Given the description of an element on the screen output the (x, y) to click on. 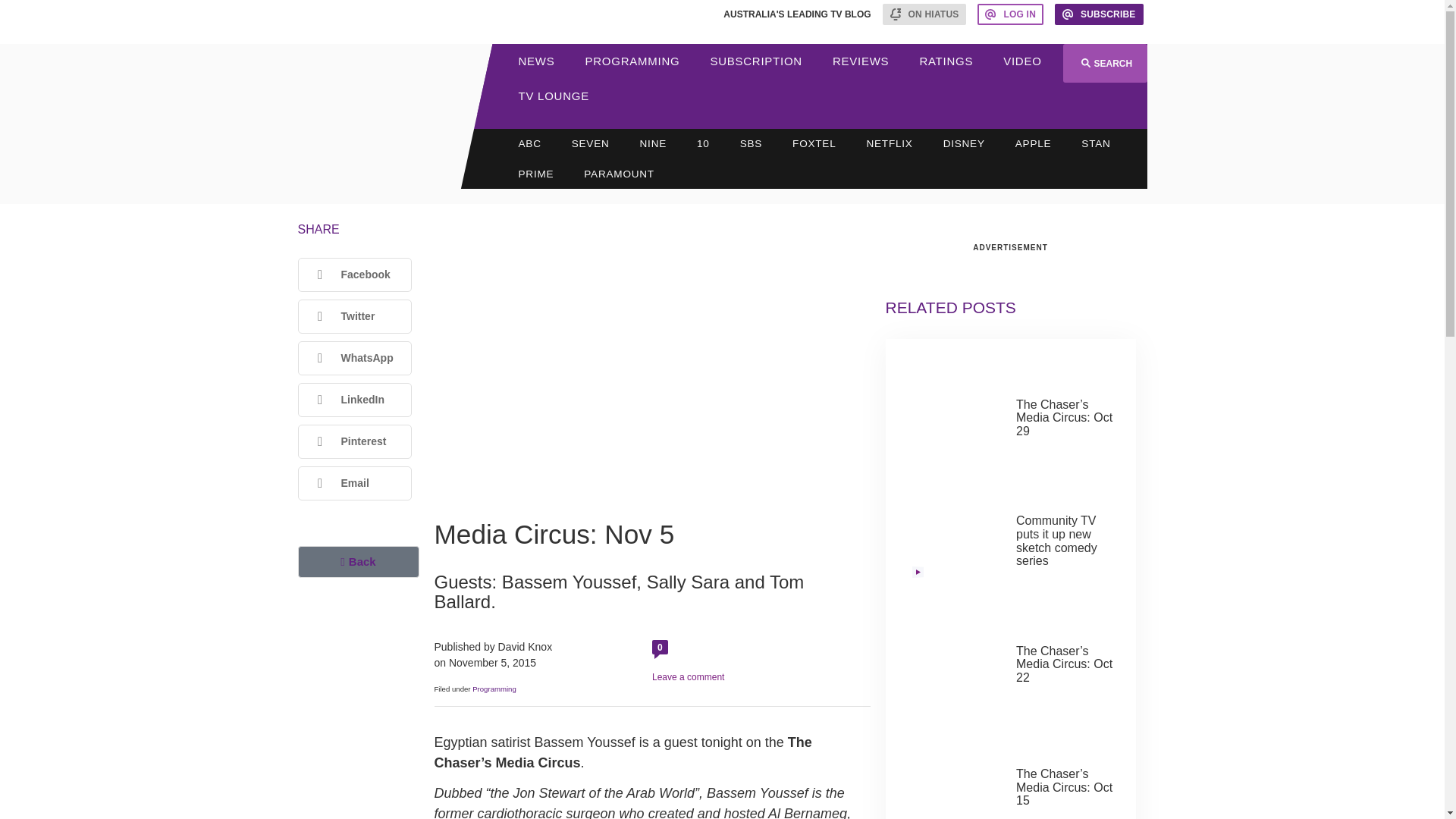
ON HIATUS (924, 14)
VIDEO (1022, 61)
SUBSCRIBE (1098, 14)
ABC (529, 143)
REVIEWS (860, 61)
TV LOUNGE (553, 95)
RATINGS (946, 61)
NEWS (536, 61)
PROGRAMMING (632, 61)
SUBSCRIPTION (755, 61)
